Given the description of an element on the screen output the (x, y) to click on. 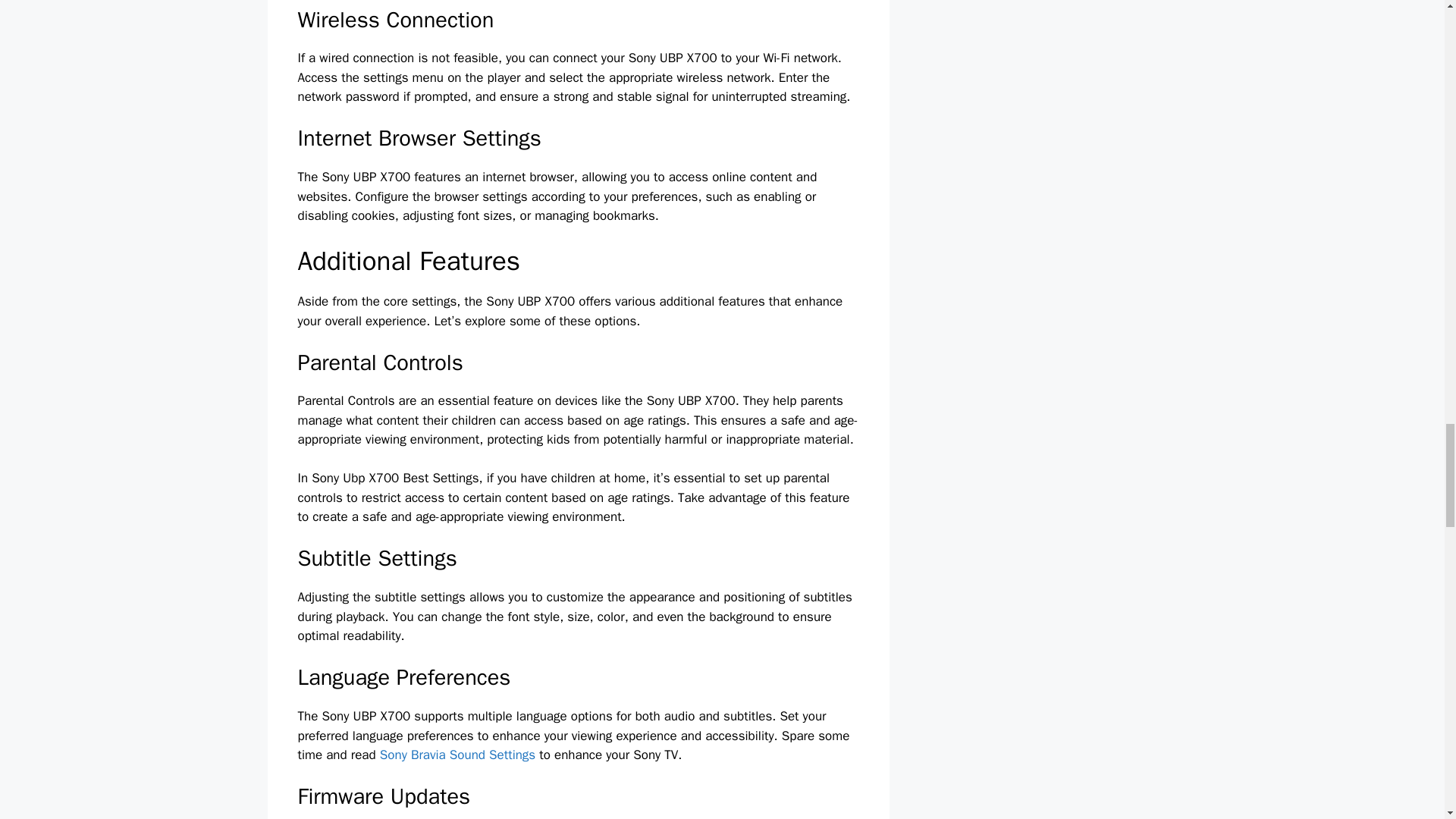
Sony Bravia Sound Settings (457, 754)
